Given the description of an element on the screen output the (x, y) to click on. 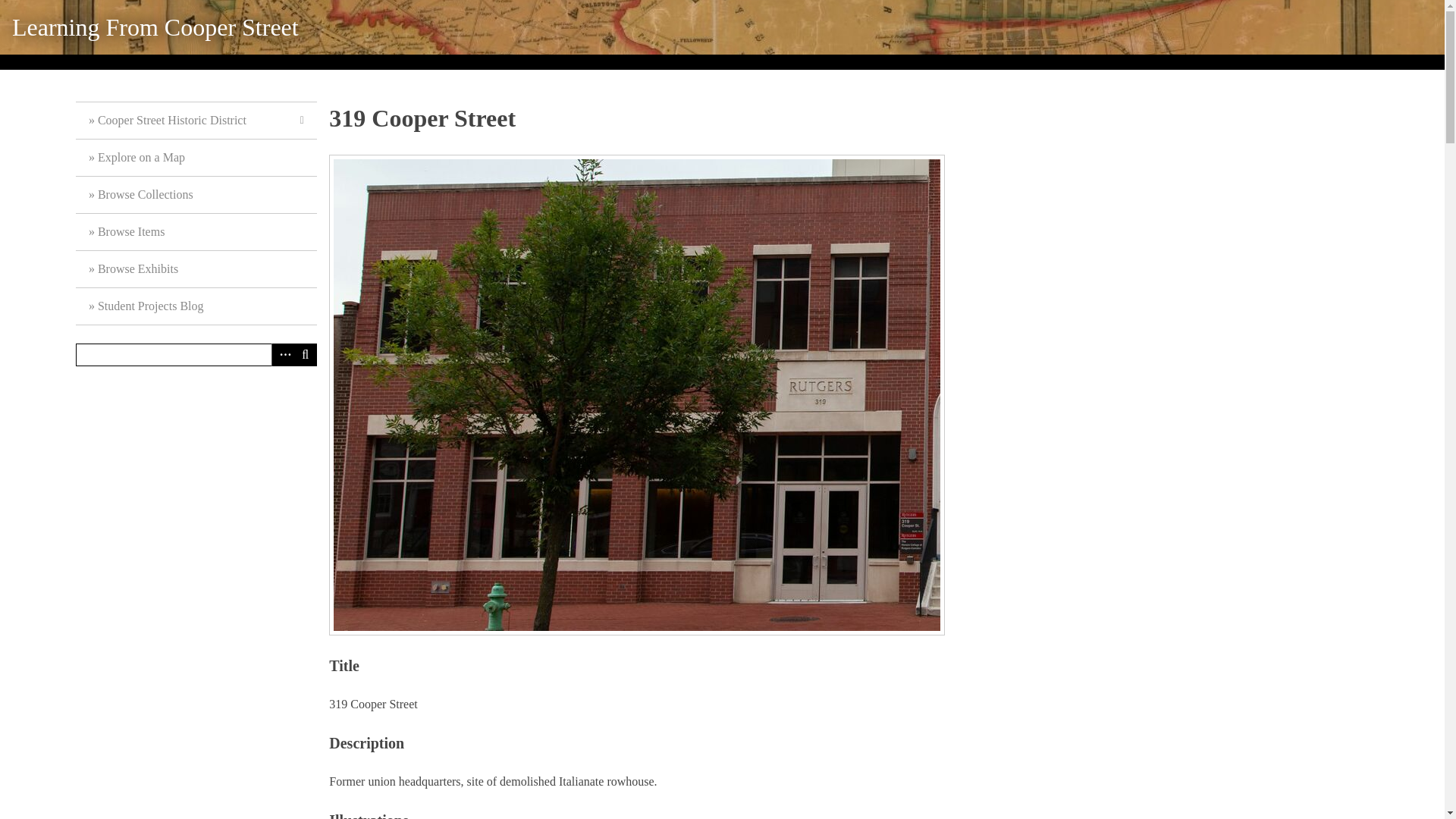
Advanced Search (282, 354)
Search (195, 354)
Cooper Street Historic District (195, 120)
Browse Collections (195, 194)
Explore on a Map (195, 157)
Browse Exhibits (195, 269)
Browse Items (195, 231)
Student Projects Blog (195, 306)
Learning From Cooper Street (154, 26)
Search (305, 354)
